Given the description of an element on the screen output the (x, y) to click on. 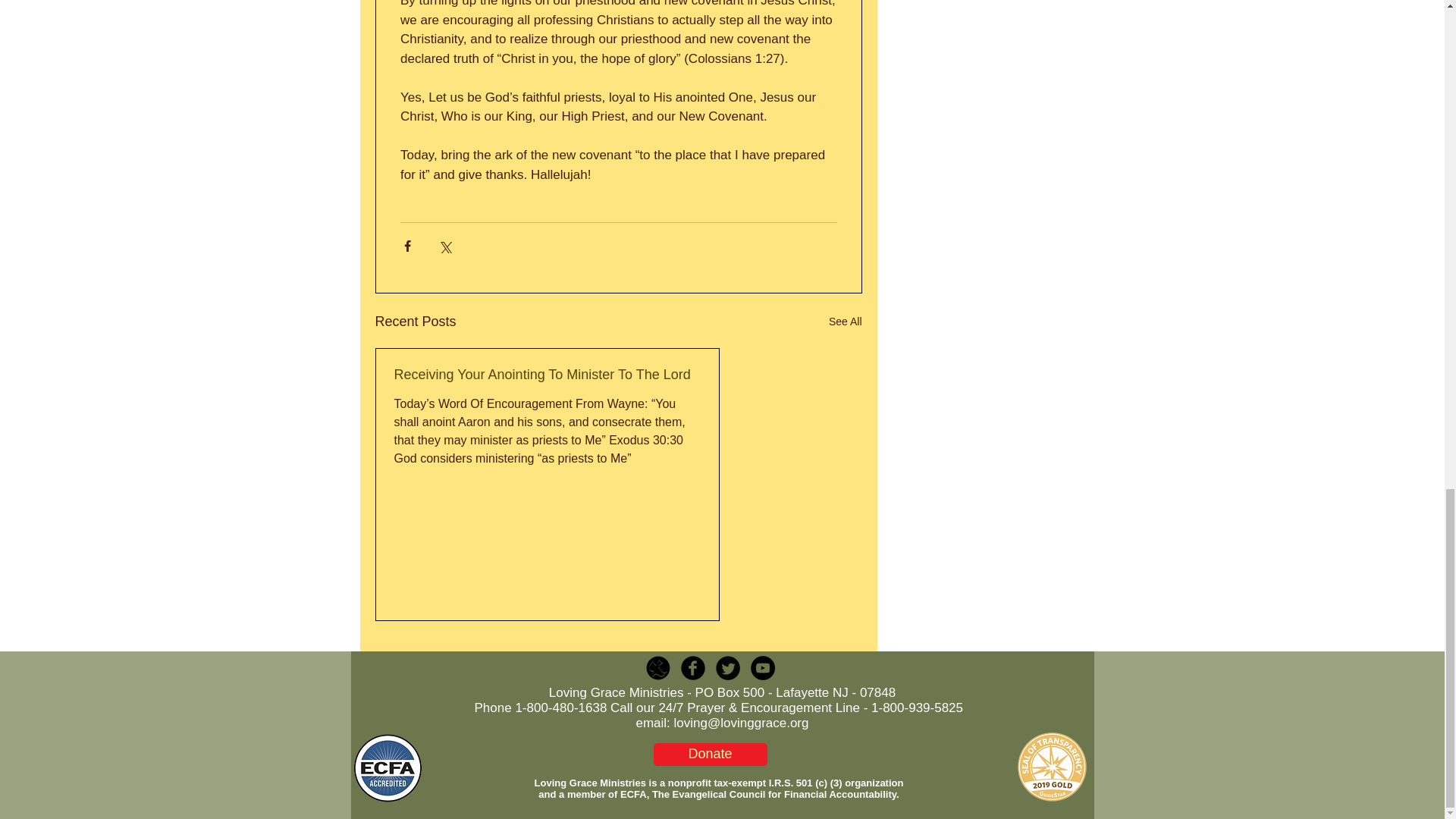
Receiving Your Anointing To Minister To The Lord (547, 374)
See All (844, 321)
